Given the description of an element on the screen output the (x, y) to click on. 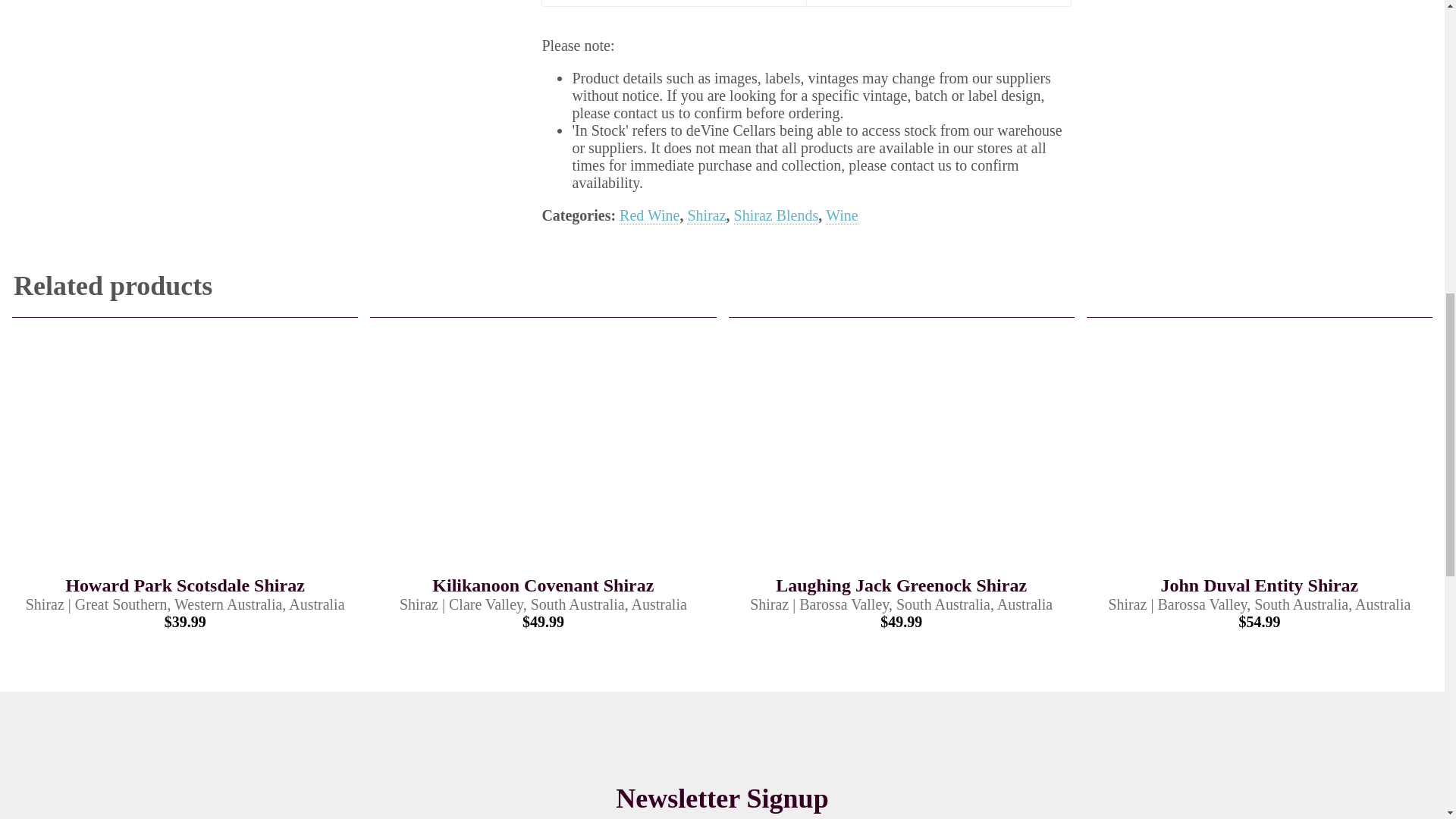
Laughing Jack Greenock Shiraz (901, 453)
